Given the description of an element on the screen output the (x, y) to click on. 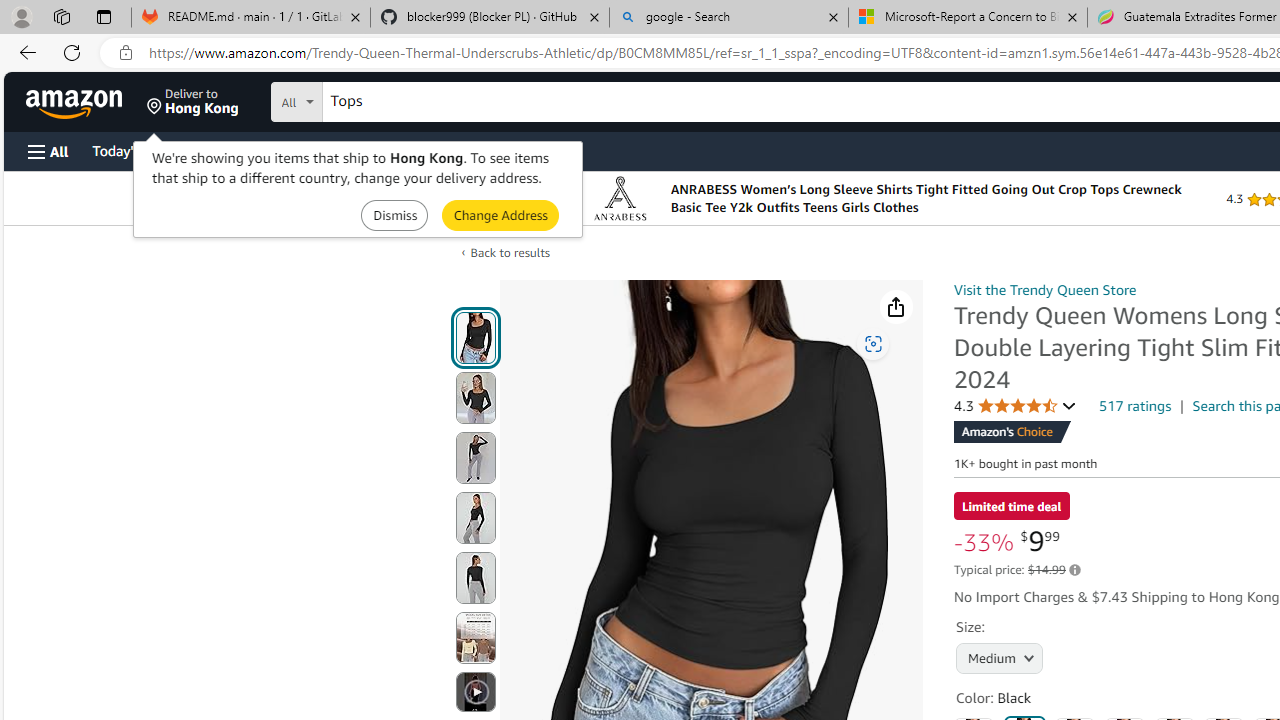
Registry (360, 150)
Logo (619, 198)
